Given the description of an element on the screen output the (x, y) to click on. 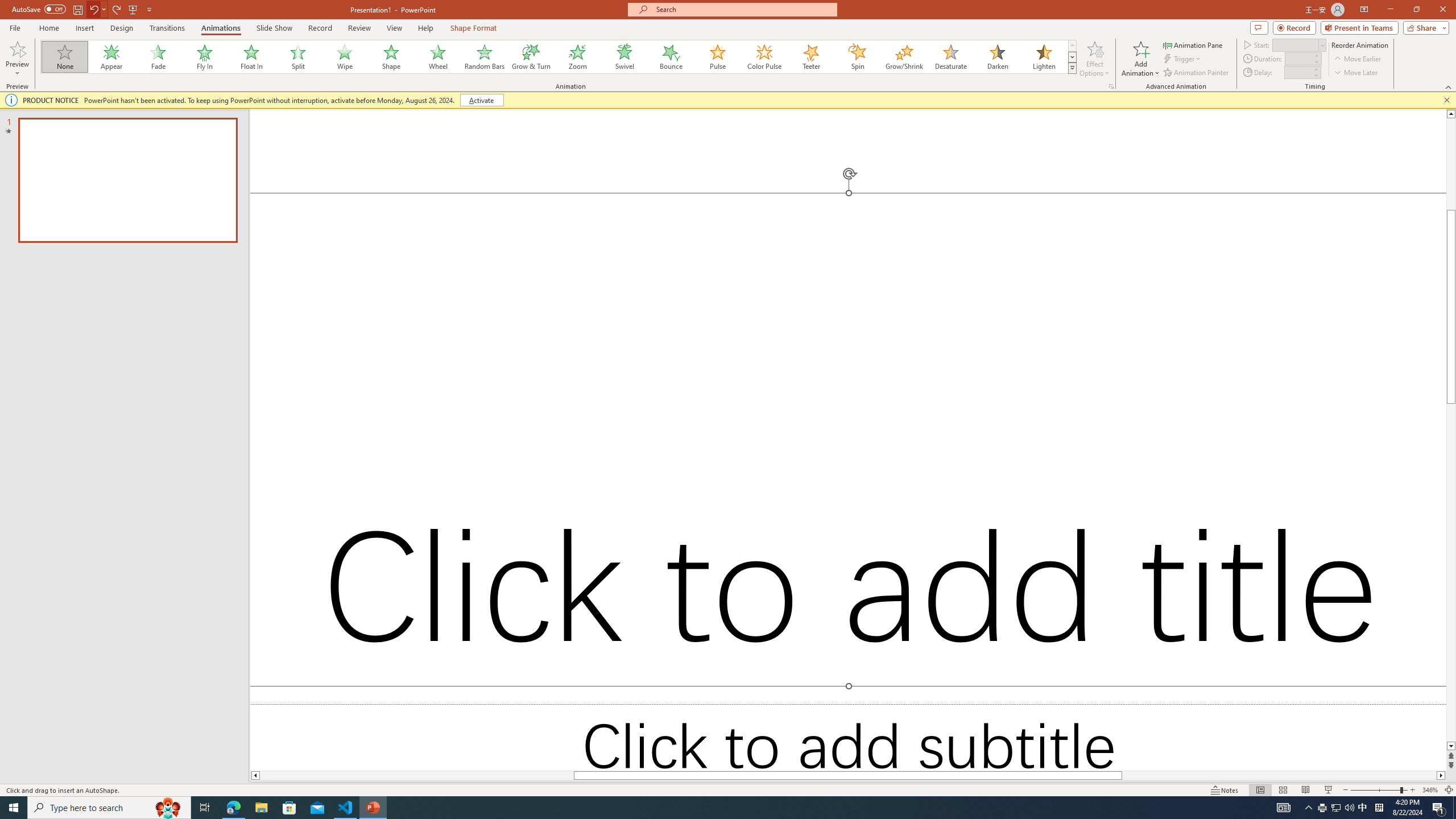
Activate (481, 100)
None (65, 56)
Animation Pane (1193, 44)
Teeter (810, 56)
Random Bars (484, 56)
Grow/Shrink (903, 56)
Swivel (624, 56)
Wheel (437, 56)
